Given the description of an element on the screen output the (x, y) to click on. 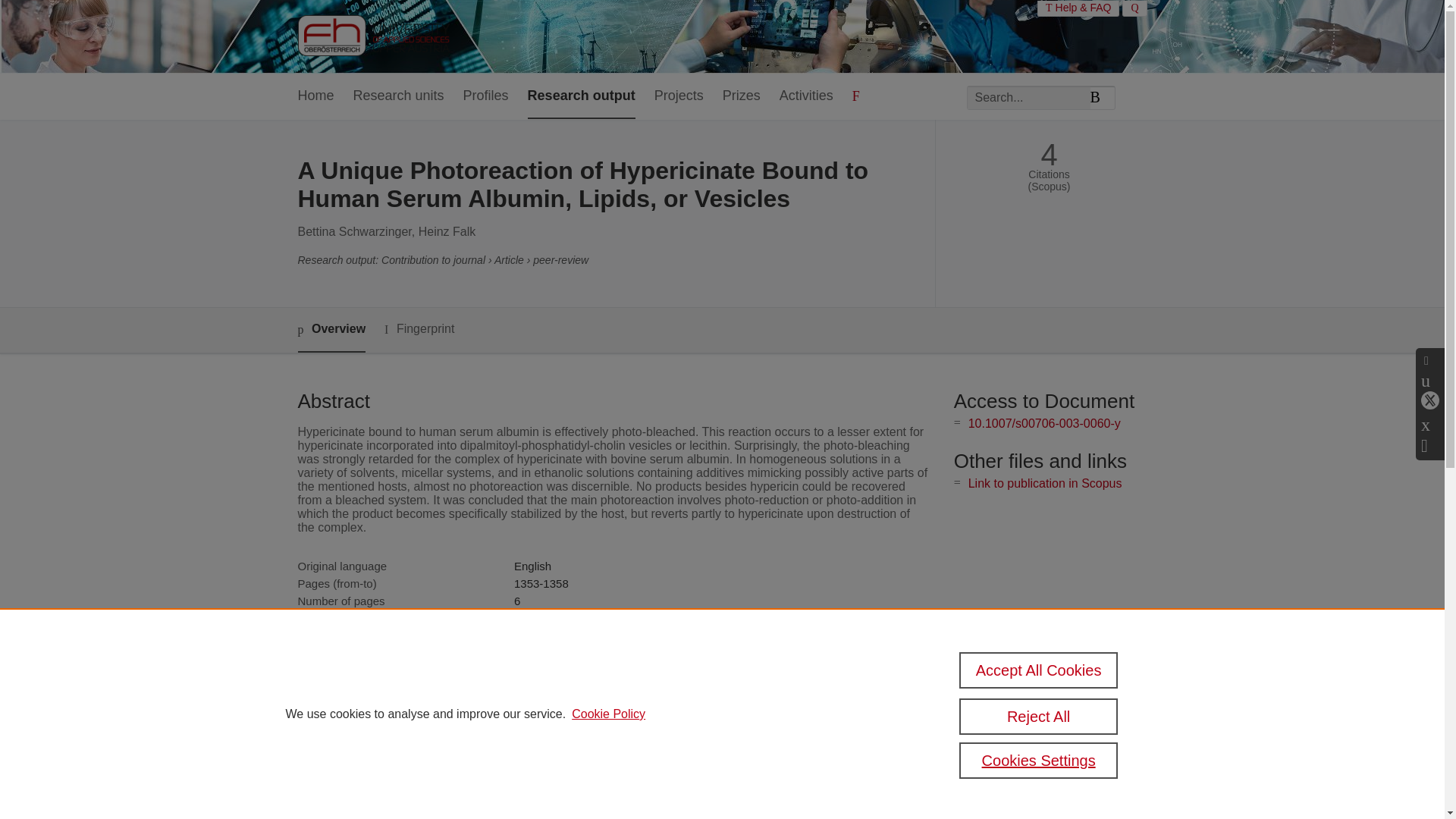
Overview (331, 329)
Fingerprint (419, 329)
Research output (580, 96)
Link to publication in Scopus (1045, 482)
Profiles (485, 96)
Monatshefte fur Chemie (573, 617)
Projects (678, 96)
University of Applied Sciences Upper Austria Home (372, 36)
Research units (398, 96)
